Given the description of an element on the screen output the (x, y) to click on. 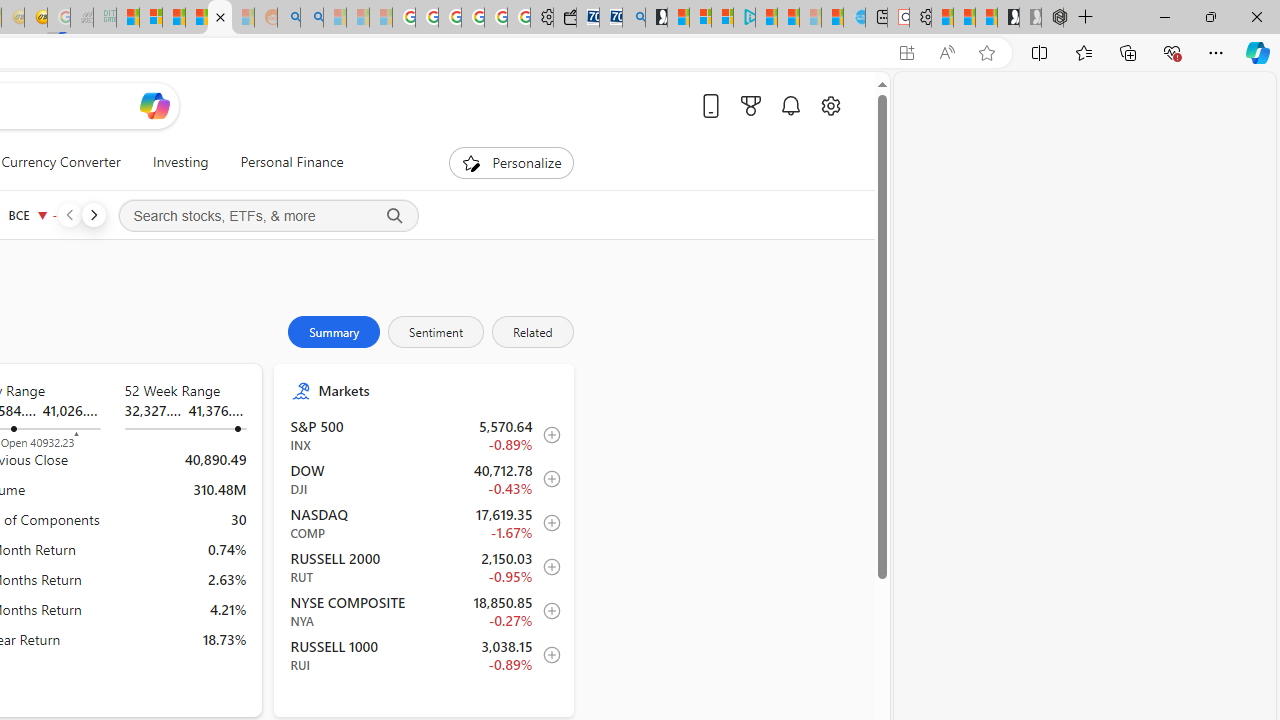
INX S&P 500 decrease 5,570.64 -50.21 -0.89% itemundefined (423, 435)
Personal Finance (284, 162)
Related (532, 331)
